Given the description of an element on the screen output the (x, y) to click on. 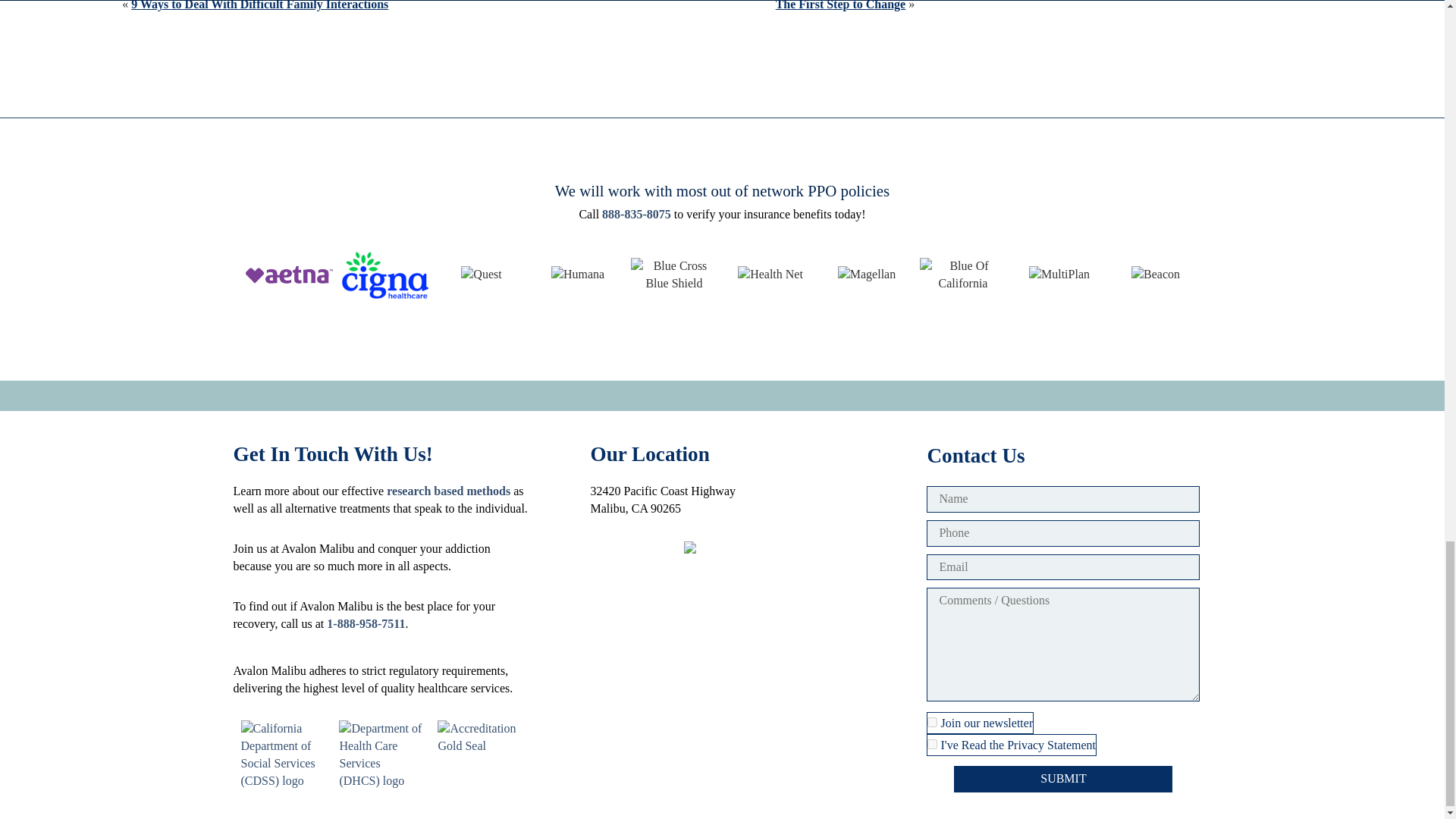
Join our newsletter (932, 722)
I've Read the Privacy Statement (932, 744)
Submit (1062, 778)
